Given the description of an element on the screen output the (x, y) to click on. 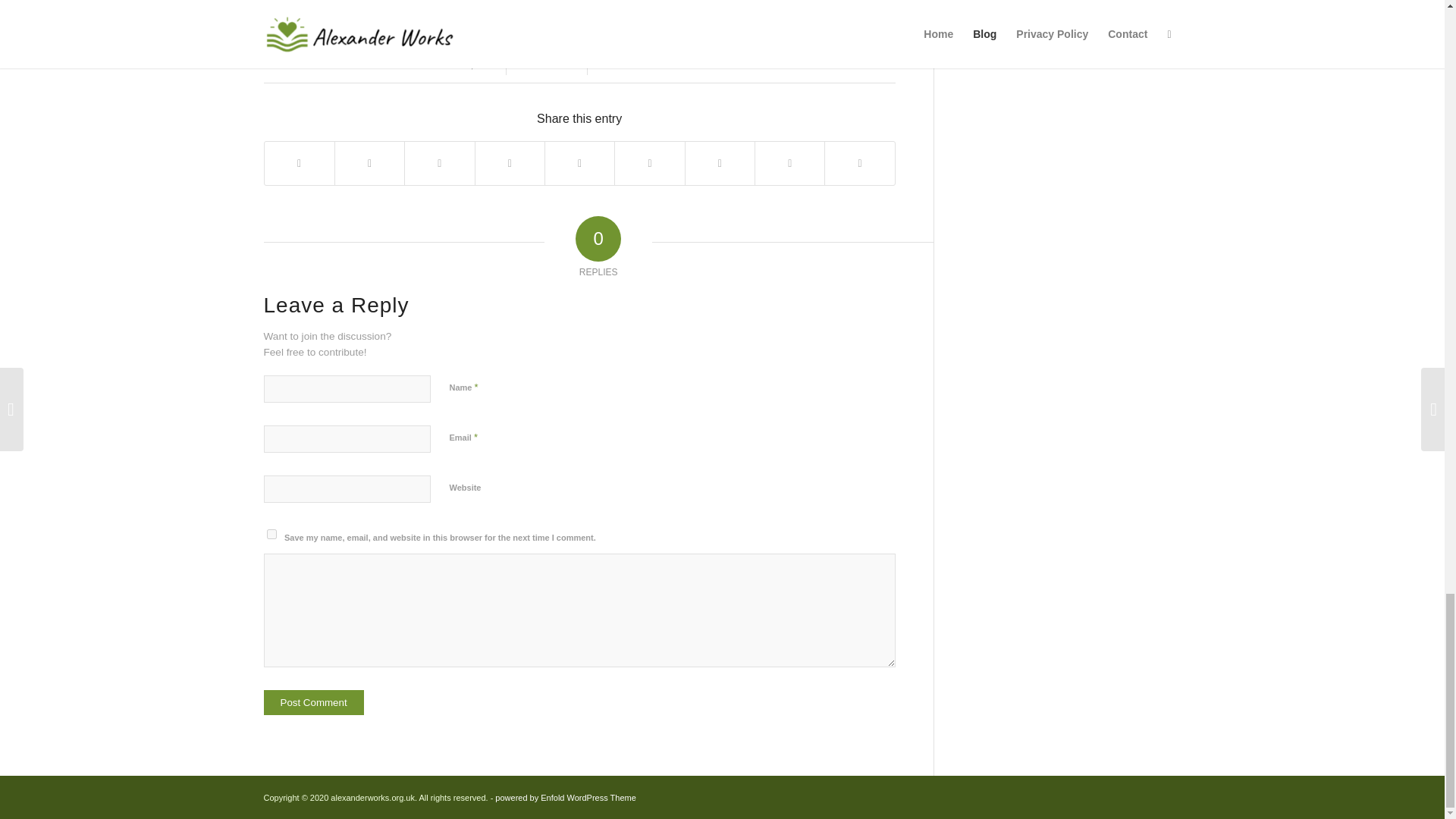
yes (271, 533)
MAUREEN C. INFANTE (664, 64)
0 COMMENTS (546, 64)
Posts by Maureen C. Infante (664, 64)
Post Comment (313, 702)
Post Comment (313, 702)
